Given the description of an element on the screen output the (x, y) to click on. 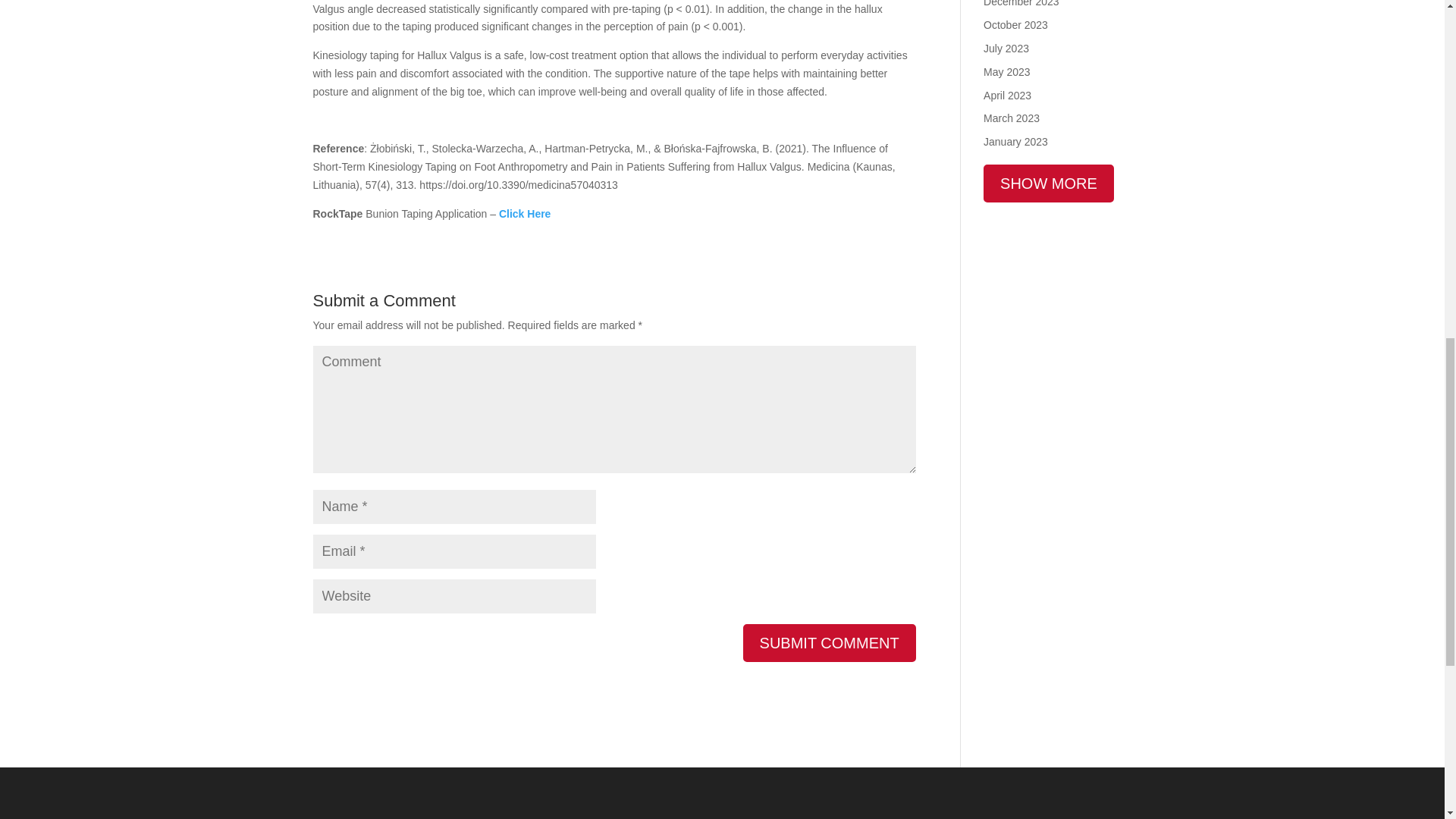
Submit Comment (828, 642)
